Given the description of an element on the screen output the (x, y) to click on. 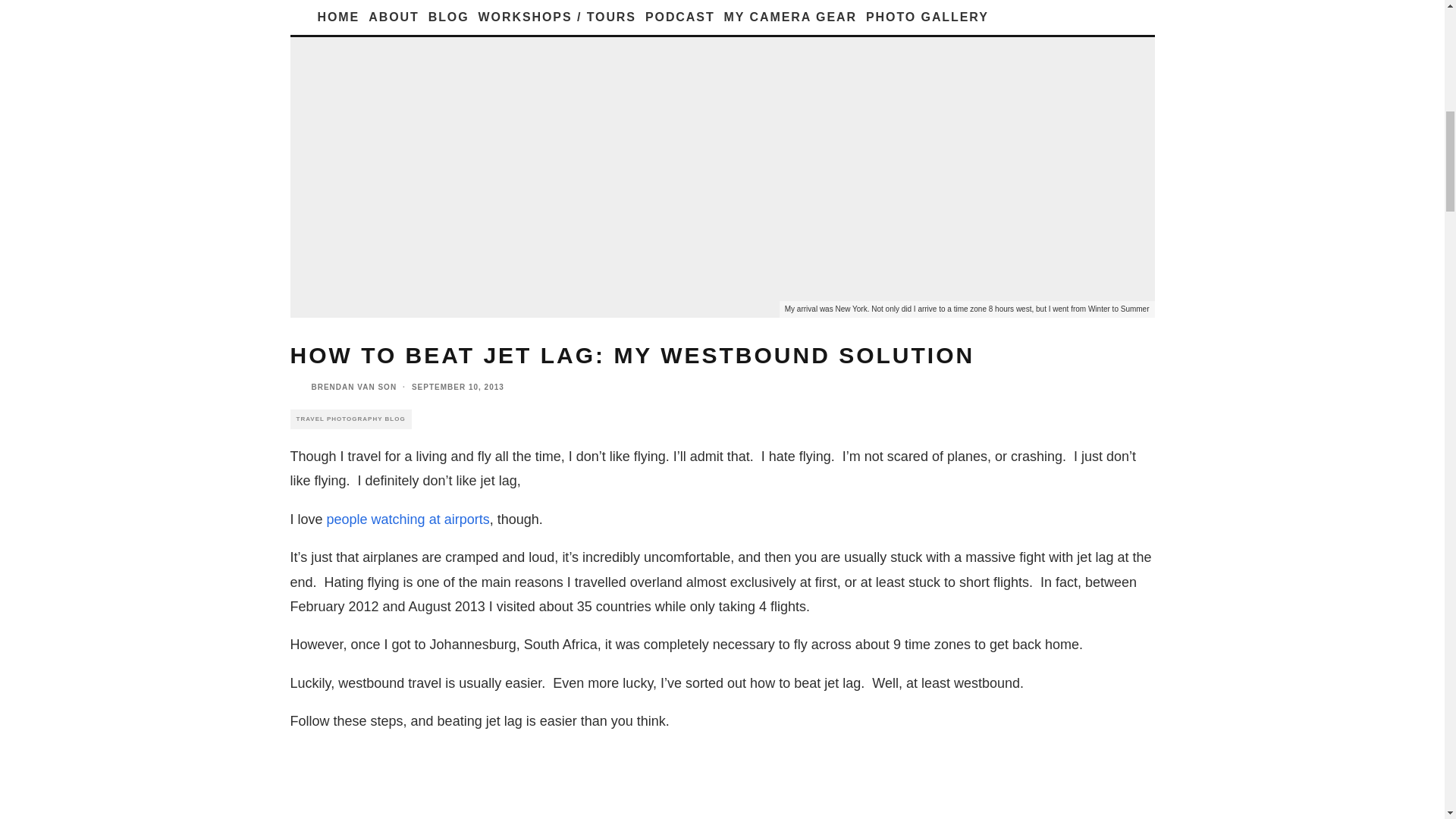
people watching at airports (407, 519)
BRENDAN VAN SON (353, 386)
TRAVEL PHOTOGRAPHY BLOG (349, 419)
